Given the description of an element on the screen output the (x, y) to click on. 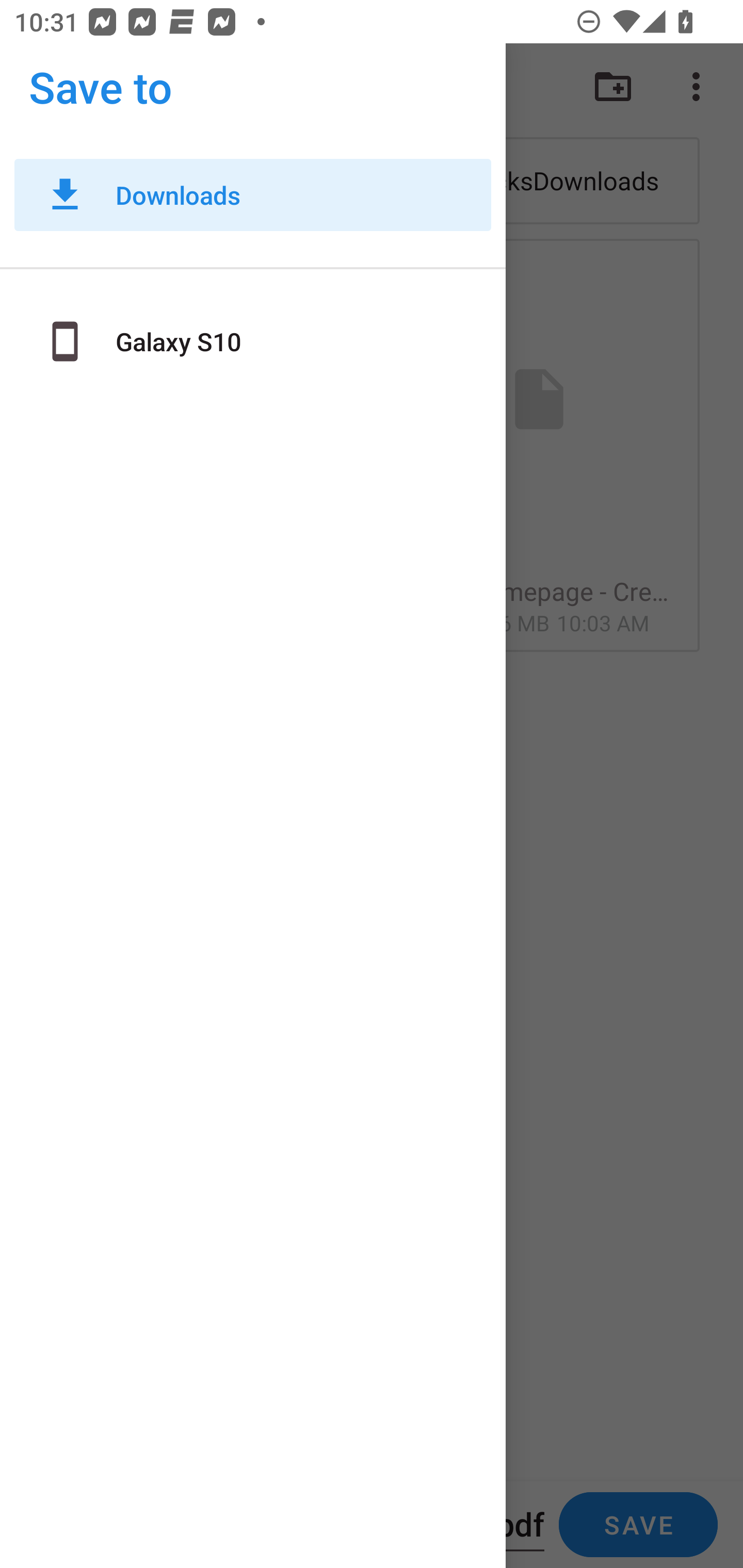
Downloads (252, 195)
Galaxy S10 (252, 341)
